Given the description of an element on the screen output the (x, y) to click on. 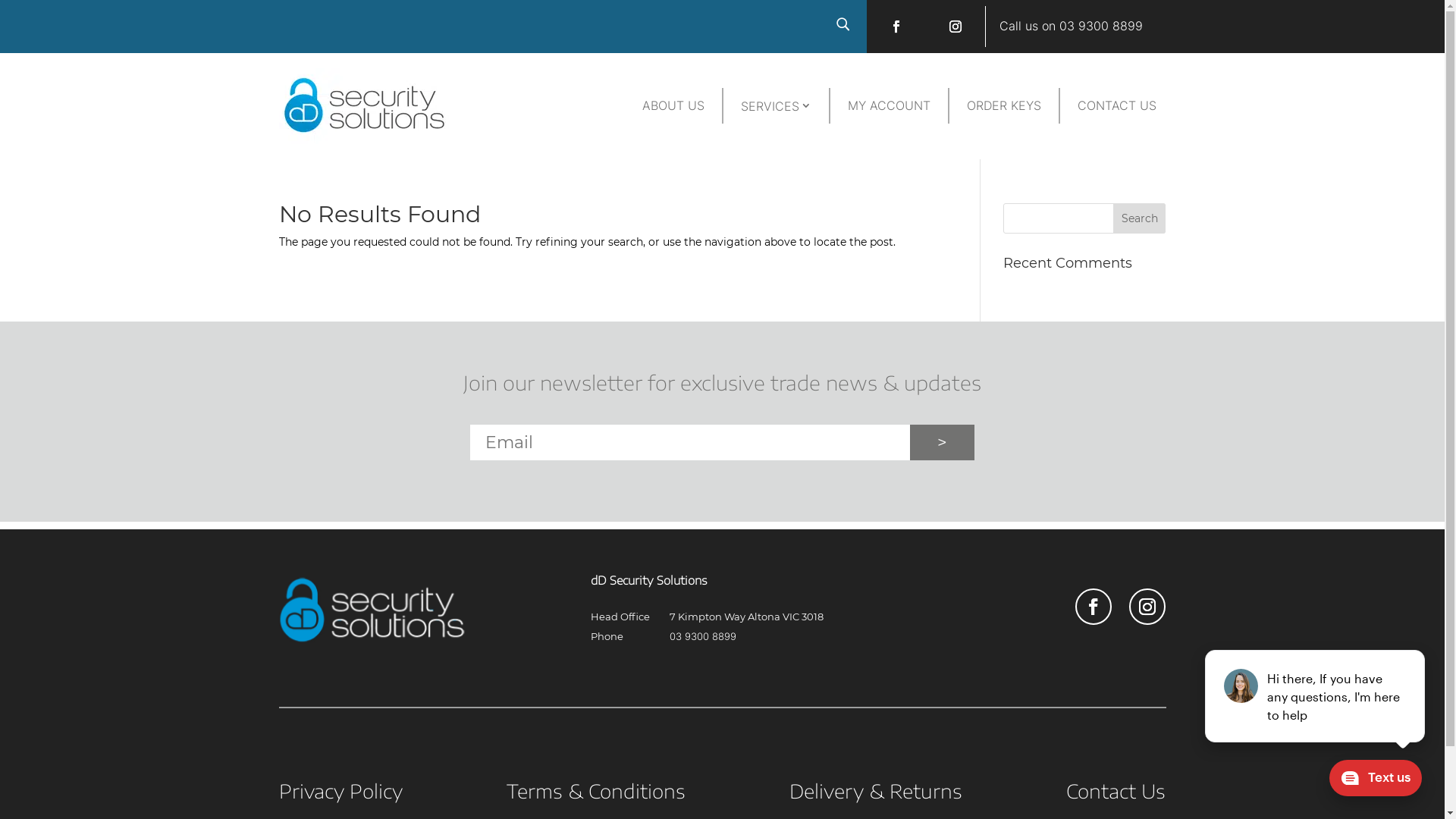
SERVICES Element type: text (775, 105)
ORDER KEYS Element type: text (1003, 105)
podium webchat widget prompt Element type: hover (1315, 696)
Search Element type: text (1139, 218)
Follow on Facebook Element type: hover (1093, 606)
Search Element type: text (25, 14)
ABOUT US Element type: text (672, 105)
ddss-website-final-3 Element type: hover (364, 139)
Screenshot_5 Element type: hover (371, 639)
Terms & Conditions Element type: text (595, 793)
Follow on Facebook Element type: hover (896, 26)
Privacy Policy Element type: text (340, 793)
MY ACCOUNT Element type: text (888, 105)
Follow on Instagram Element type: hover (955, 26)
> Element type: text (942, 442)
Follow on Instagram Element type: hover (1147, 606)
Contact Us Element type: text (1115, 793)
Call us on 03 9300 8899 Element type: text (1070, 25)
03 9300 8899 Element type: text (702, 636)
Delivery & Returns Element type: text (875, 793)
CONTACT US Element type: text (1116, 105)
